Given the description of an element on the screen output the (x, y) to click on. 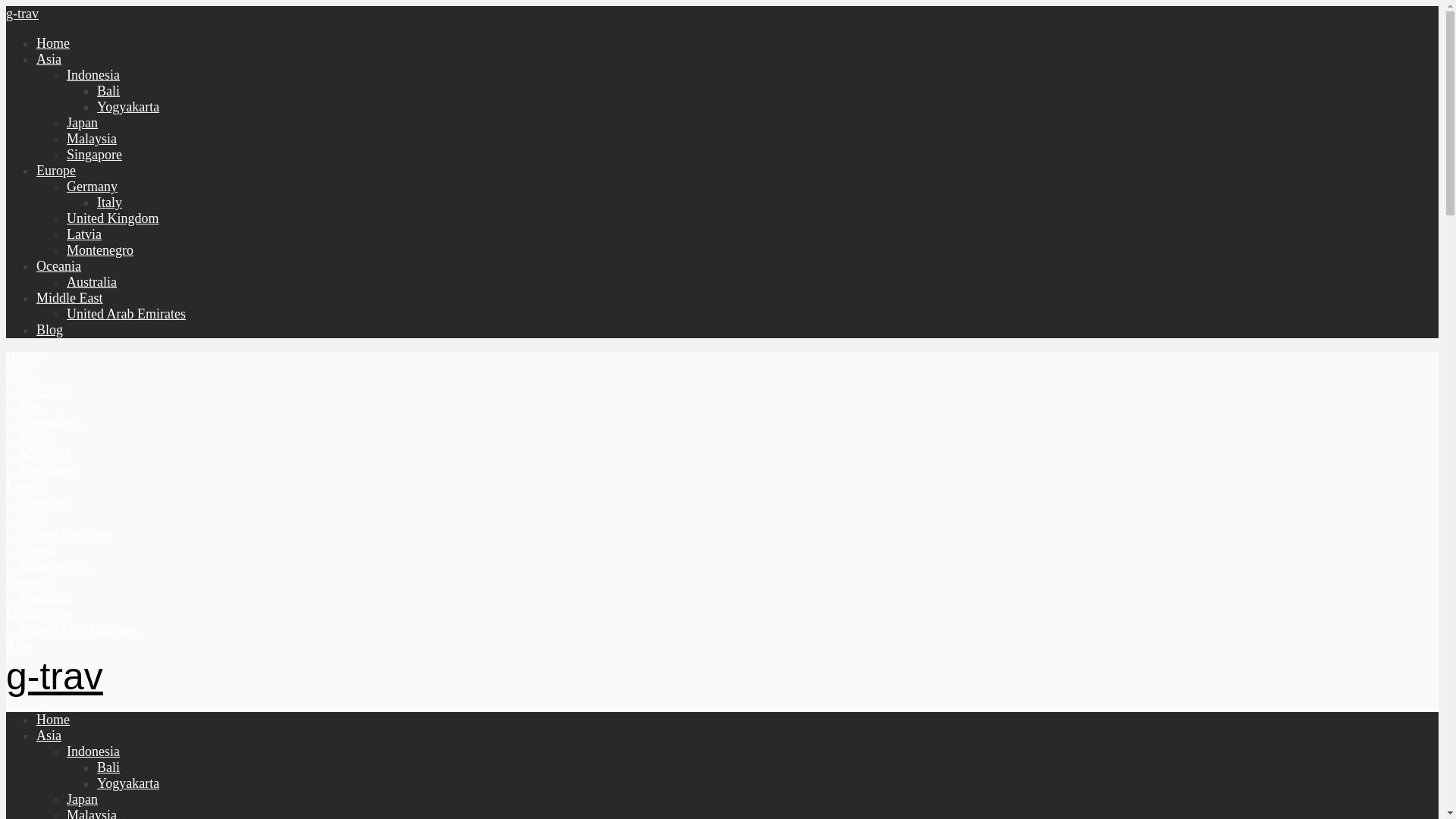
g-trav (22, 13)
    United Kingdom (58, 534)
Oceania (58, 265)
Germany (91, 186)
Home (22, 359)
Montenegro (99, 249)
Australia (91, 281)
Middle East (69, 297)
Italy (109, 201)
Europe (25, 486)
Malaysia (91, 138)
Asia (17, 375)
    Japan (27, 438)
Yogyakarta (127, 106)
Europe (55, 170)
